Given the description of an element on the screen output the (x, y) to click on. 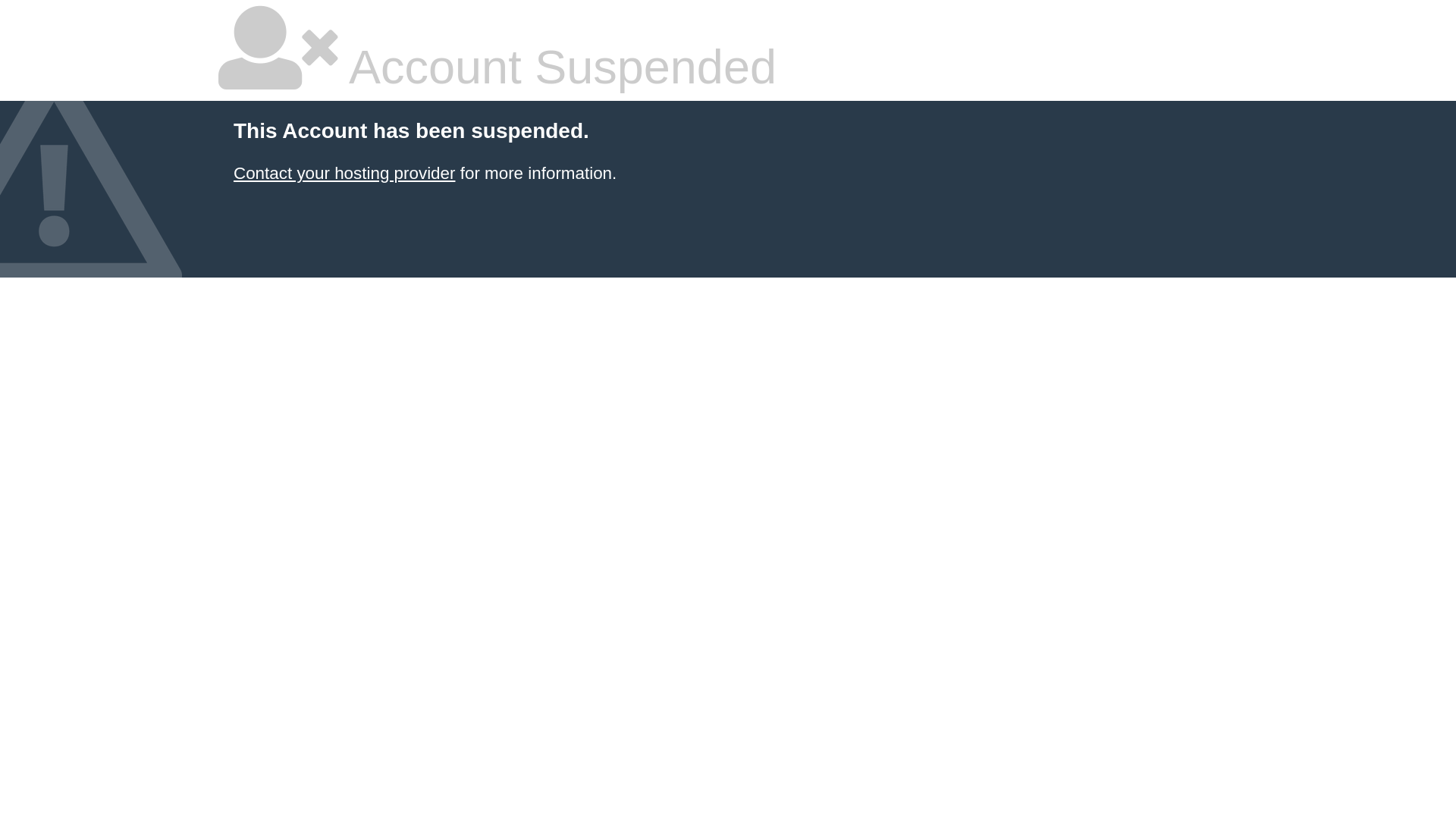
Contact your hosting provider Element type: text (344, 172)
